Given the description of an element on the screen output the (x, y) to click on. 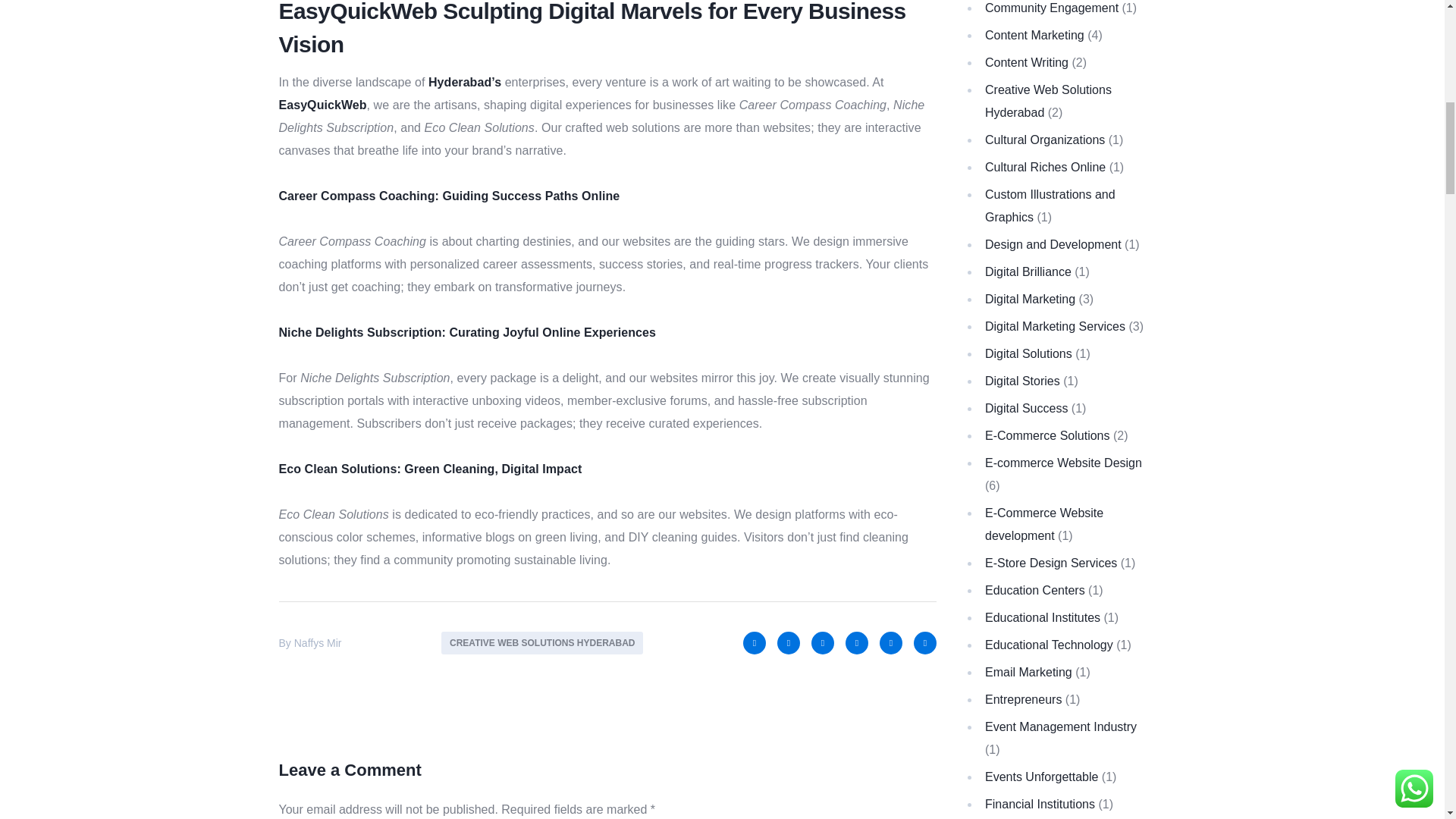
CREATIVE WEB SOLUTIONS HYDERABAD (542, 642)
LinkedIn (822, 642)
Instagram (856, 642)
Facebook (753, 642)
EasyQuickWeb (322, 104)
Twitter (788, 642)
Pinterest (890, 642)
Tumblr (925, 642)
Naffys Mir (318, 643)
